Given the description of an element on the screen output the (x, y) to click on. 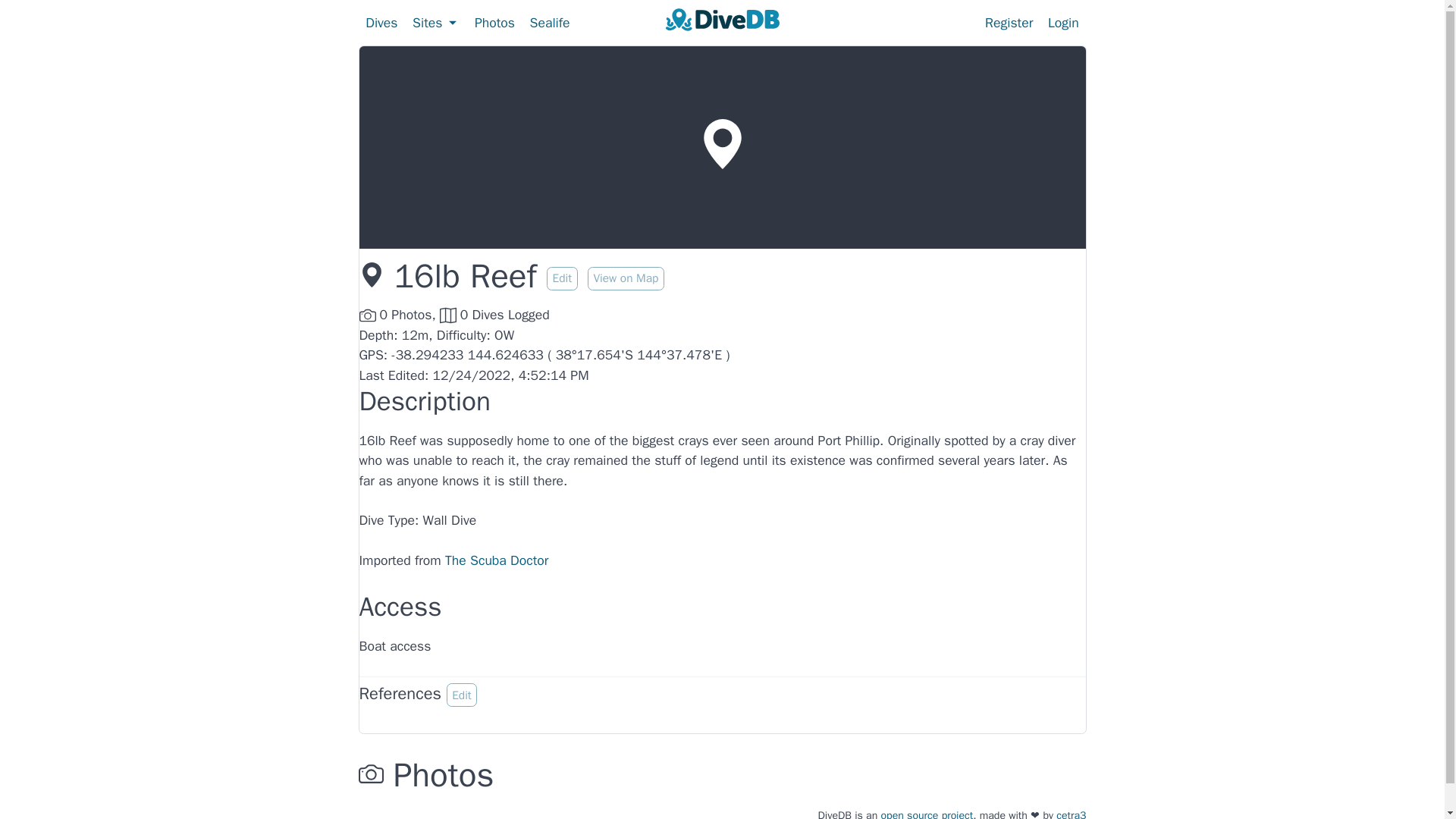
Register (1008, 22)
Login (1063, 22)
Dives (381, 22)
The Scuba Doctor (496, 560)
Sealife (550, 22)
cetra3 (1071, 813)
open source project (927, 813)
View on Map (625, 276)
View on Map (625, 278)
Sites (435, 22)
